Given the description of an element on the screen output the (x, y) to click on. 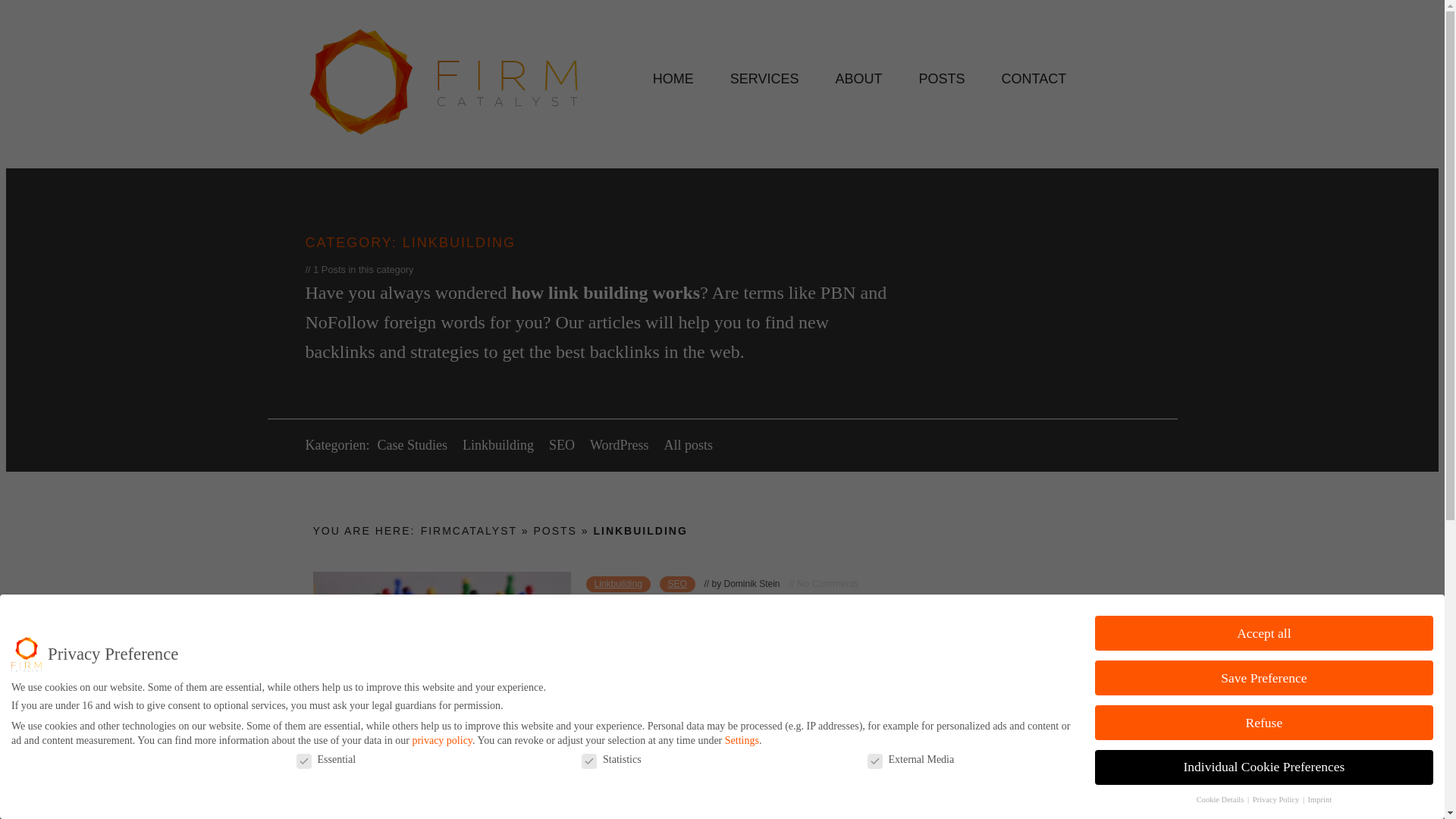
Settings (741, 738)
privacy policy (441, 737)
ABOUT (858, 78)
Cookie Details (1221, 799)
SERVICES (764, 78)
SEO (677, 584)
Imprint (1319, 799)
SEO (561, 444)
Read more (626, 714)
POSTS (941, 78)
